Given the description of an element on the screen output the (x, y) to click on. 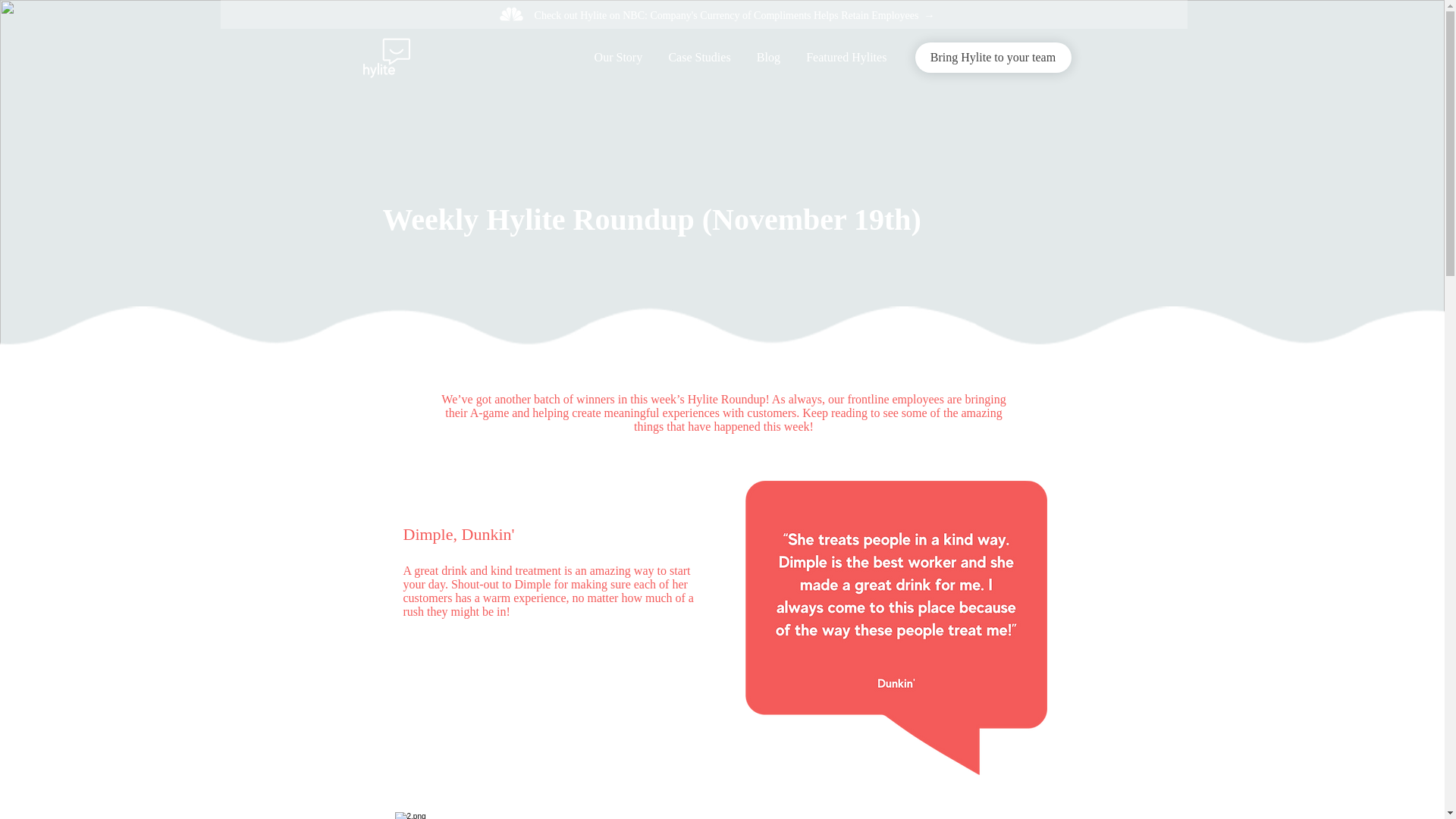
Case Studies (698, 57)
Featured Hylites (846, 57)
Blog (768, 57)
Our Story (617, 57)
